Given the description of an element on the screen output the (x, y) to click on. 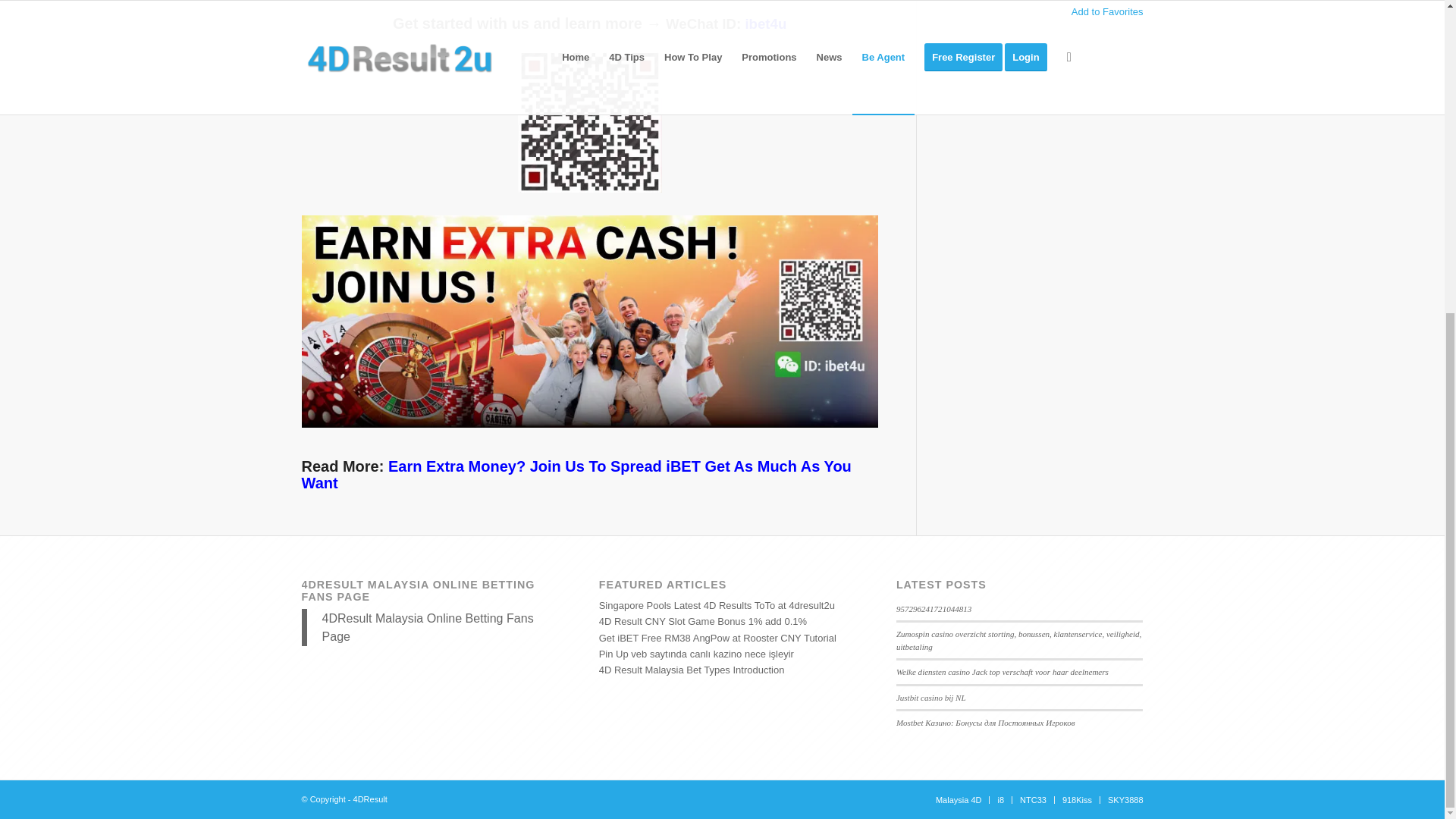
4DResult Malaysia Online Betting Fans Page (426, 626)
4D Result Malaysia Bet Types Introduction (691, 669)
Singapore Pools Latest 4D Results ToTo at 4dresult2u (716, 604)
Get iBET Free RM38 AngPow at Rooster CNY Tutorial (716, 637)
Justbit casino bij NL (931, 696)
4DRESULT MALAYSIA ONLINE BETTING FANS PAGE (418, 590)
Singapore Pools Latest 4D Results ToTo at 4dresult2u (716, 604)
